Given the description of an element on the screen output the (x, y) to click on. 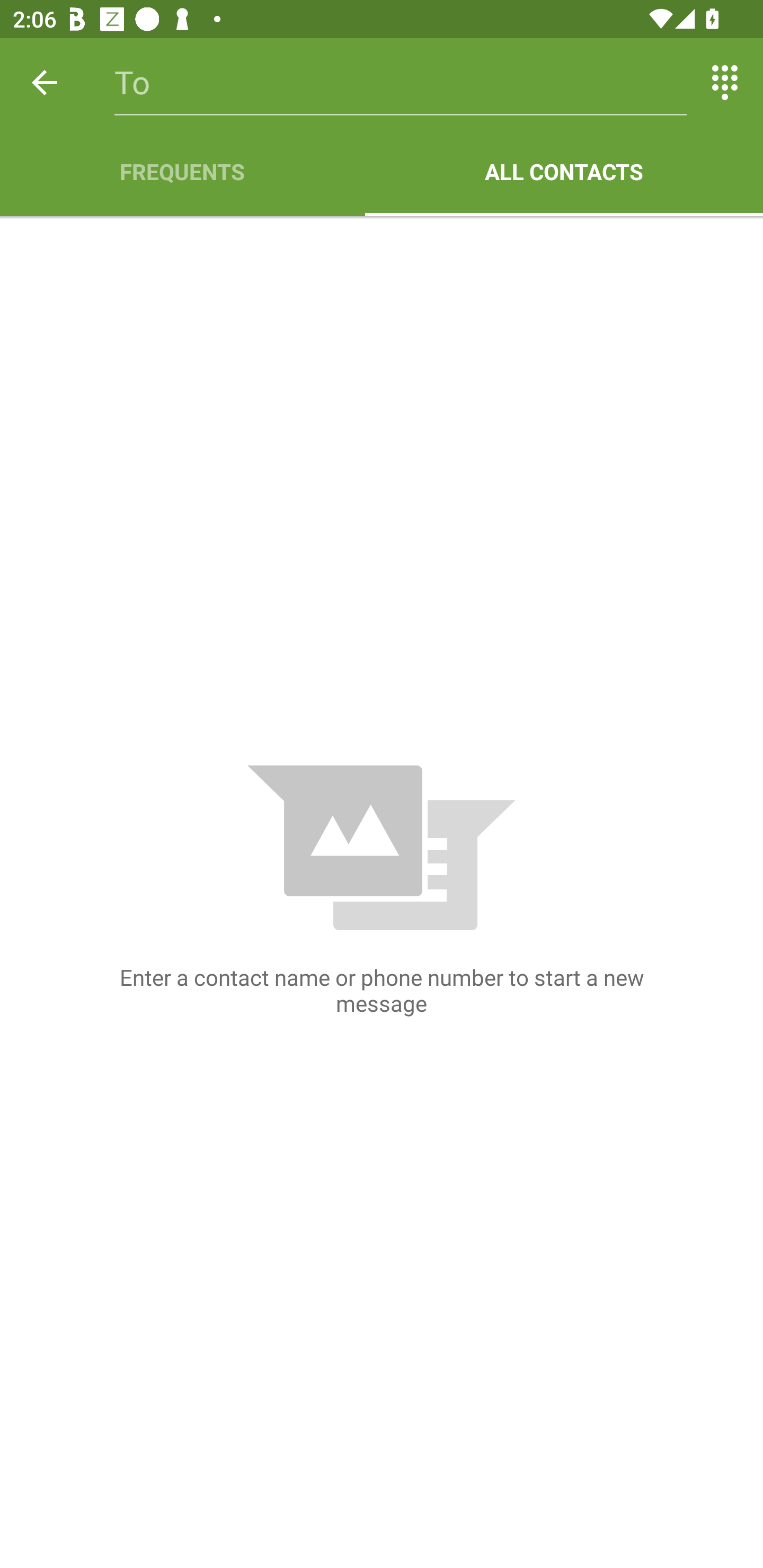
Back (44, 82)
Switch between entering text and numbers (724, 81)
To (400, 82)
FREQUENTS (182, 171)
ALL CONTACTS (563, 171)
